Given the description of an element on the screen output the (x, y) to click on. 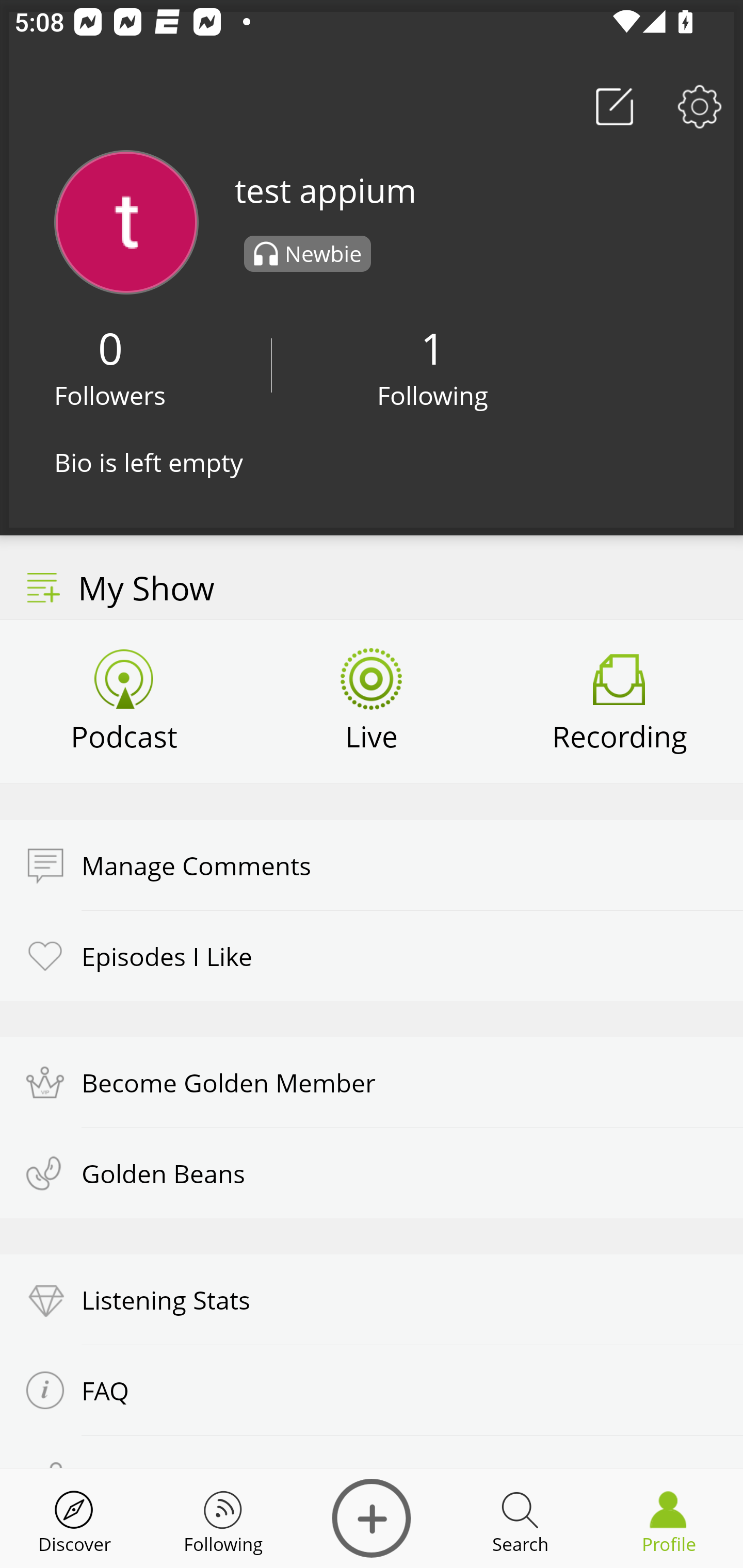
Settings (699, 106)
0 (110, 347)
1 (432, 347)
Followers (110, 394)
Following (432, 394)
Manage Comments (371, 865)
Episodes I Like (371, 955)
Become Golden Member (371, 1082)
Golden Beans (371, 1172)
Listening Stats (371, 1299)
FAQ (371, 1389)
Discover (74, 1518)
Discover Following (222, 1518)
Discover (371, 1518)
Discover Search (519, 1518)
